Given the description of an element on the screen output the (x, y) to click on. 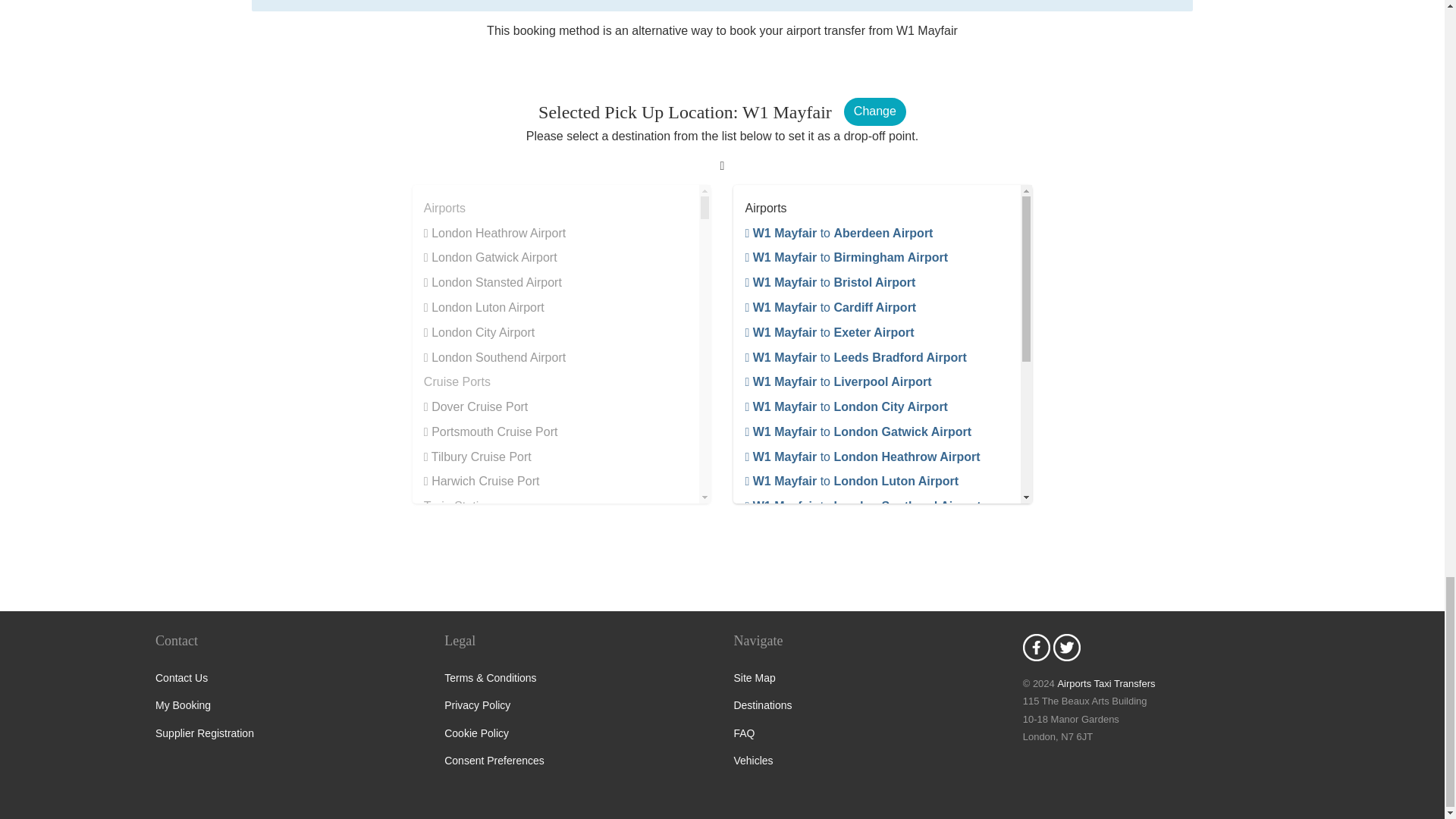
W1 Mayfair to Manchester Airport (843, 555)
W1 Mayfair to Exeter Airport (829, 332)
Change (874, 111)
W1 Mayfair to Tilbury Cruise Port (843, 729)
W1 Mayfair to Birmingham Airport (845, 256)
London Heathrow Airport (494, 232)
W1 Mayfair to Portsmouth Cruise Port (856, 680)
W1 Mayfair to Aberdeen Airport (838, 232)
W1 Mayfair to Cardiff Airport (829, 307)
London Luton Airport (483, 307)
